Given the description of an element on the screen output the (x, y) to click on. 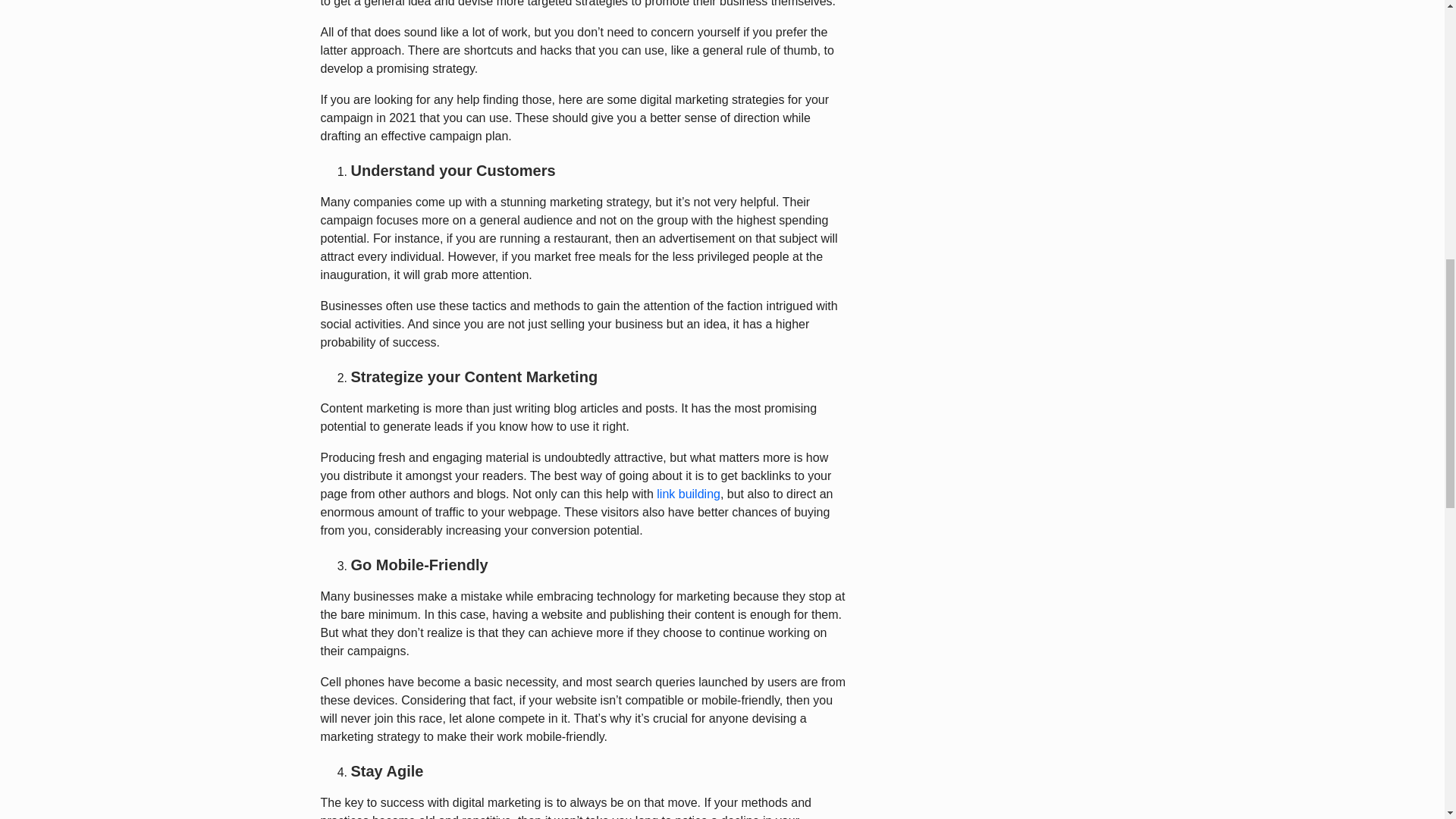
link building (688, 493)
